Given the description of an element on the screen output the (x, y) to click on. 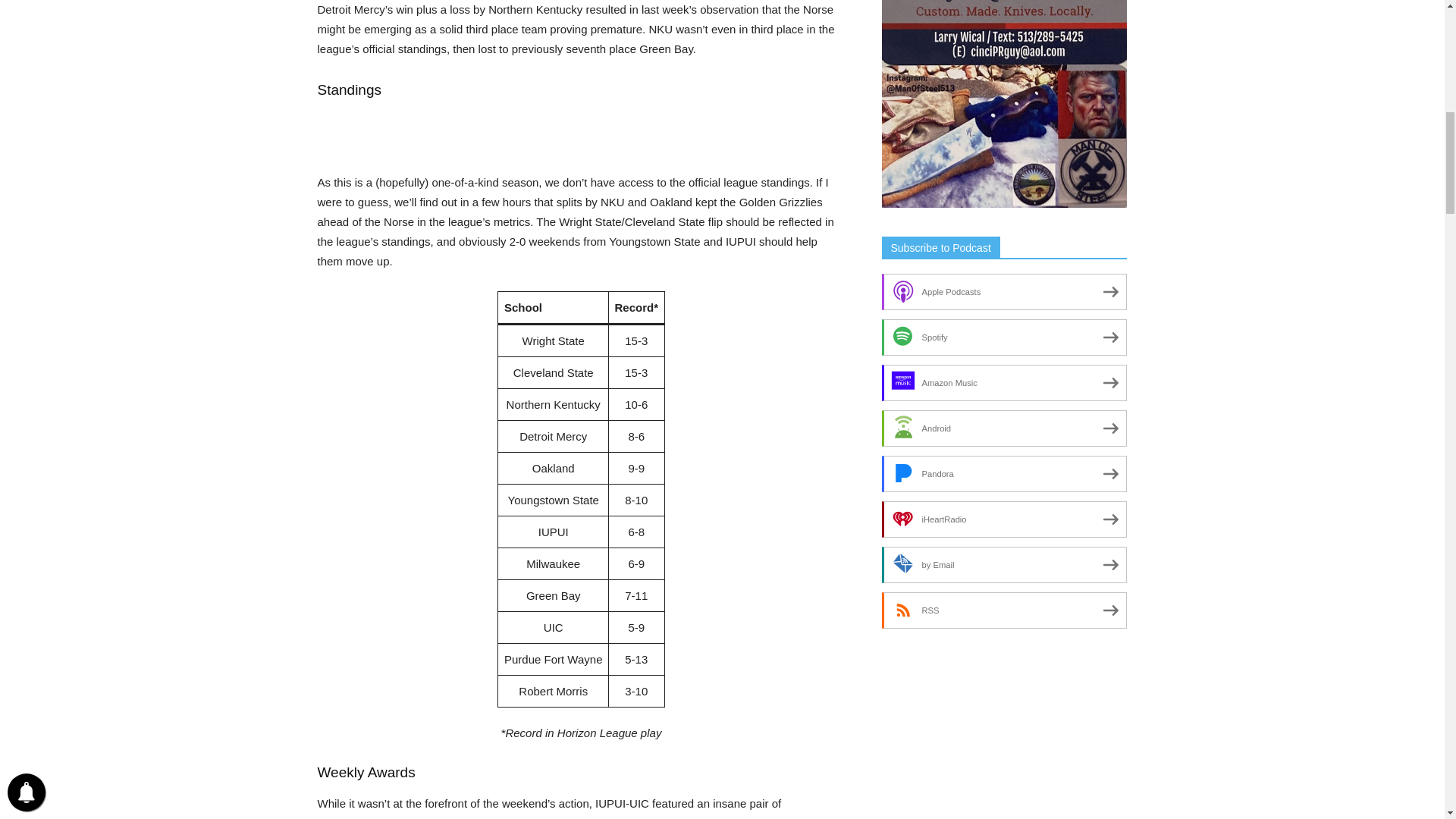
Advertisement (580, 134)
